Given the description of an element on the screen output the (x, y) to click on. 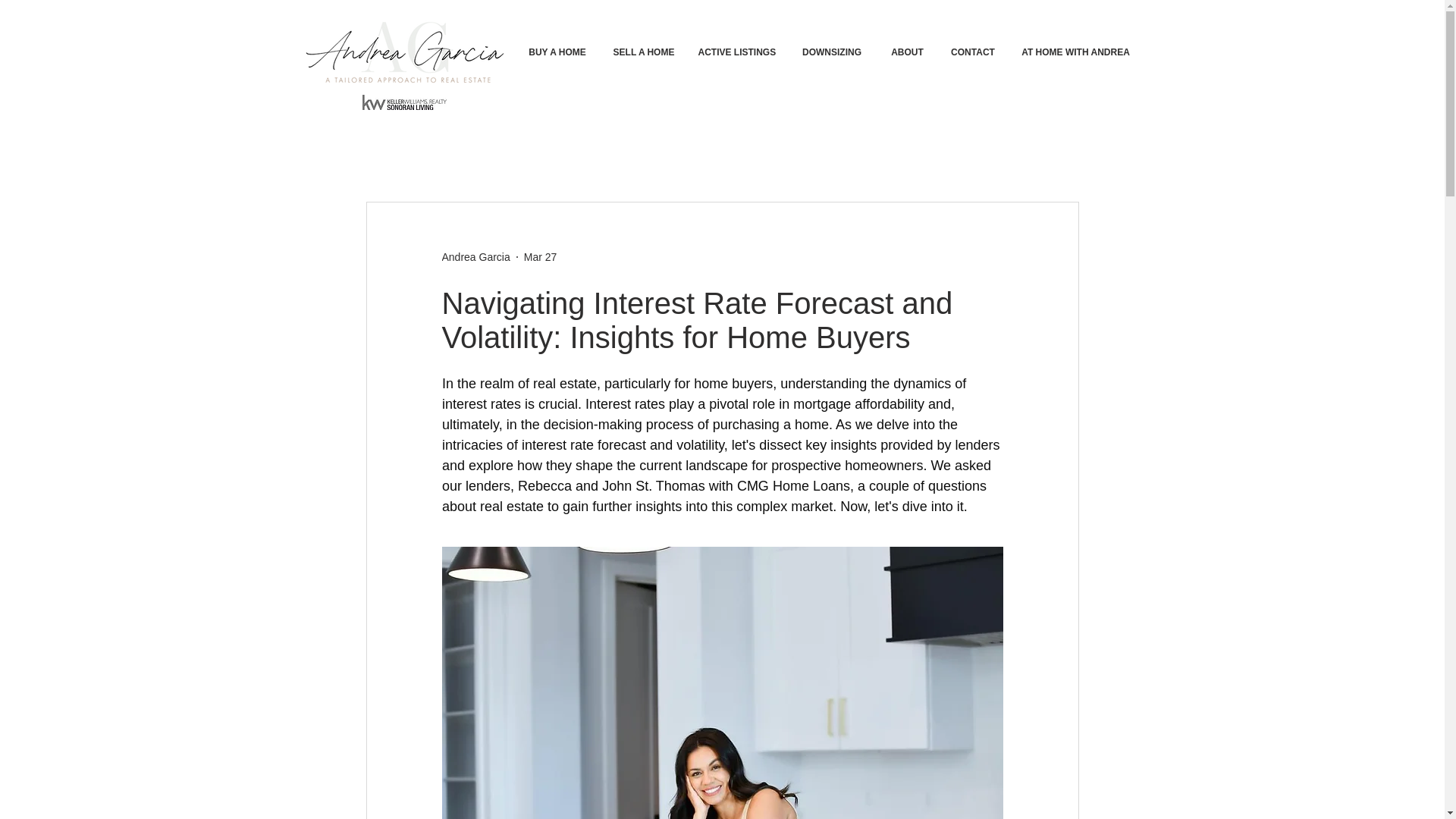
ABOUT (907, 52)
Andrea Garcia (475, 256)
SELL A HOME (642, 52)
AT HOME WITH ANDREA (1075, 52)
Mar 27 (540, 256)
DOWNSIZING (831, 52)
CONTACT (973, 52)
BUY A HOME (557, 52)
ACTIVE LISTINGS (736, 52)
